Given the description of an element on the screen output the (x, y) to click on. 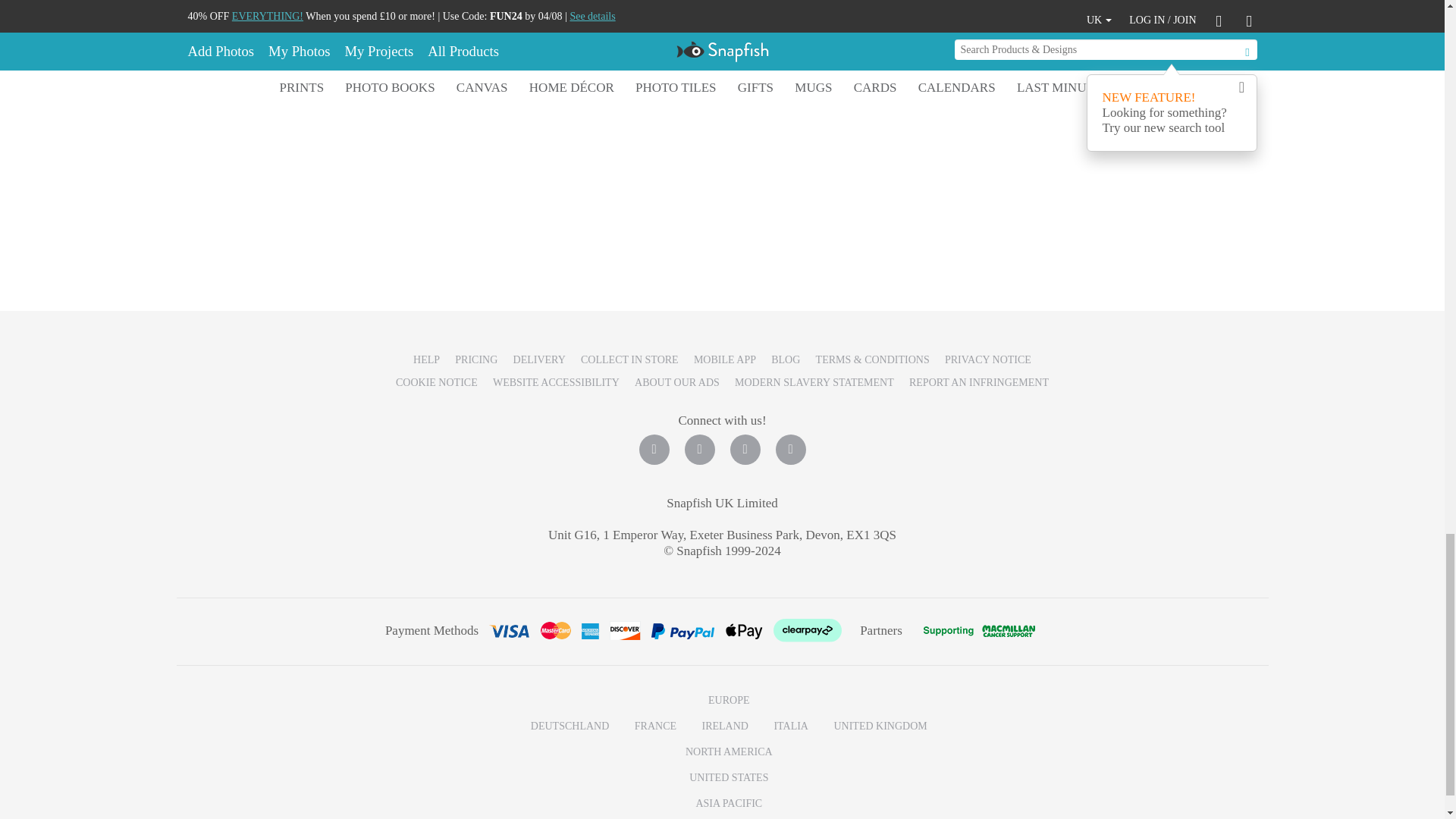
Customer reviews powered by Trustpilot (722, 211)
